Given the description of an element on the screen output the (x, y) to click on. 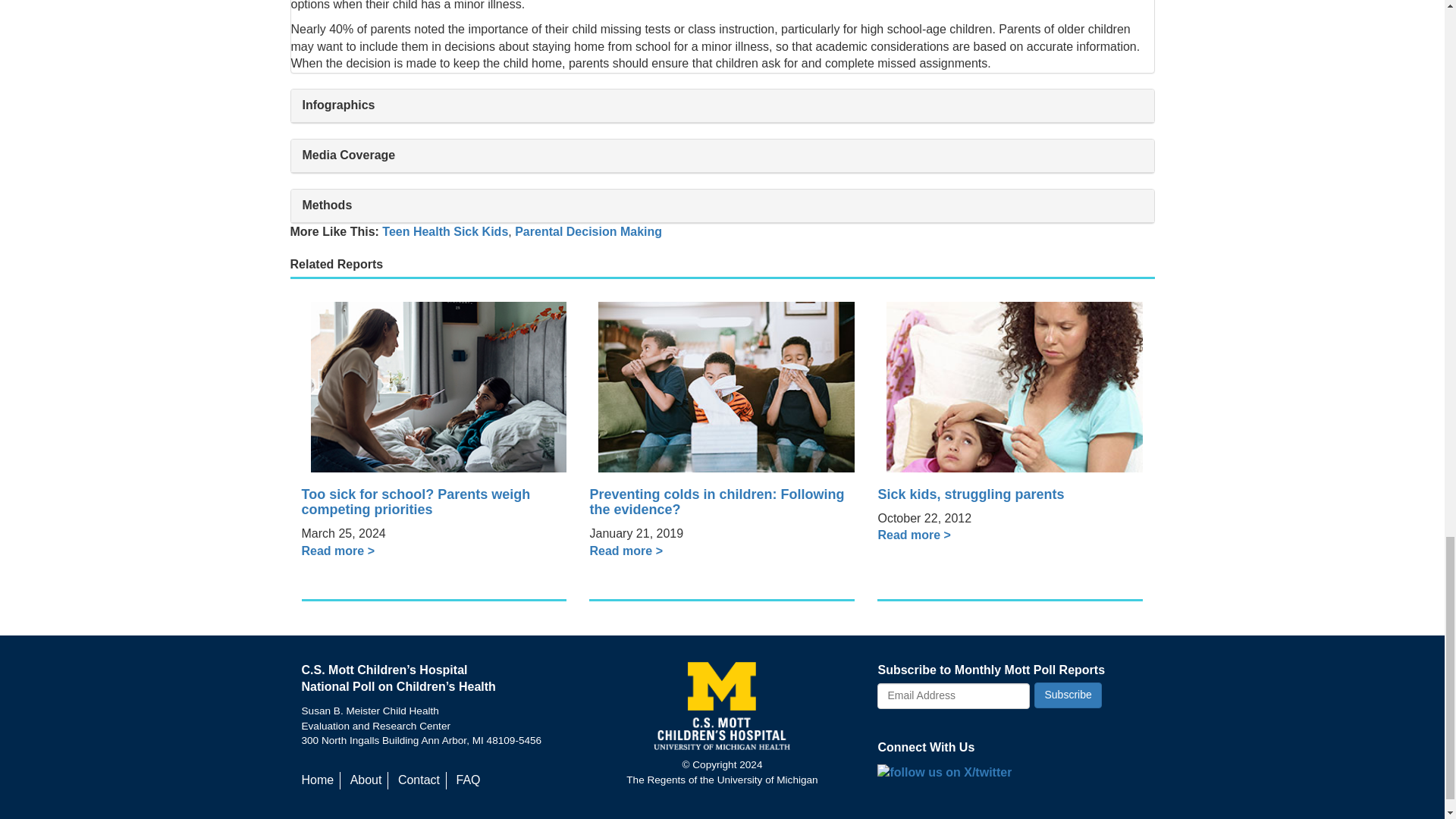
Media Coverage (722, 155)
Subscribe (1066, 695)
Infographics (722, 105)
Teen Health (415, 231)
Methods (722, 205)
